Given the description of an element on the screen output the (x, y) to click on. 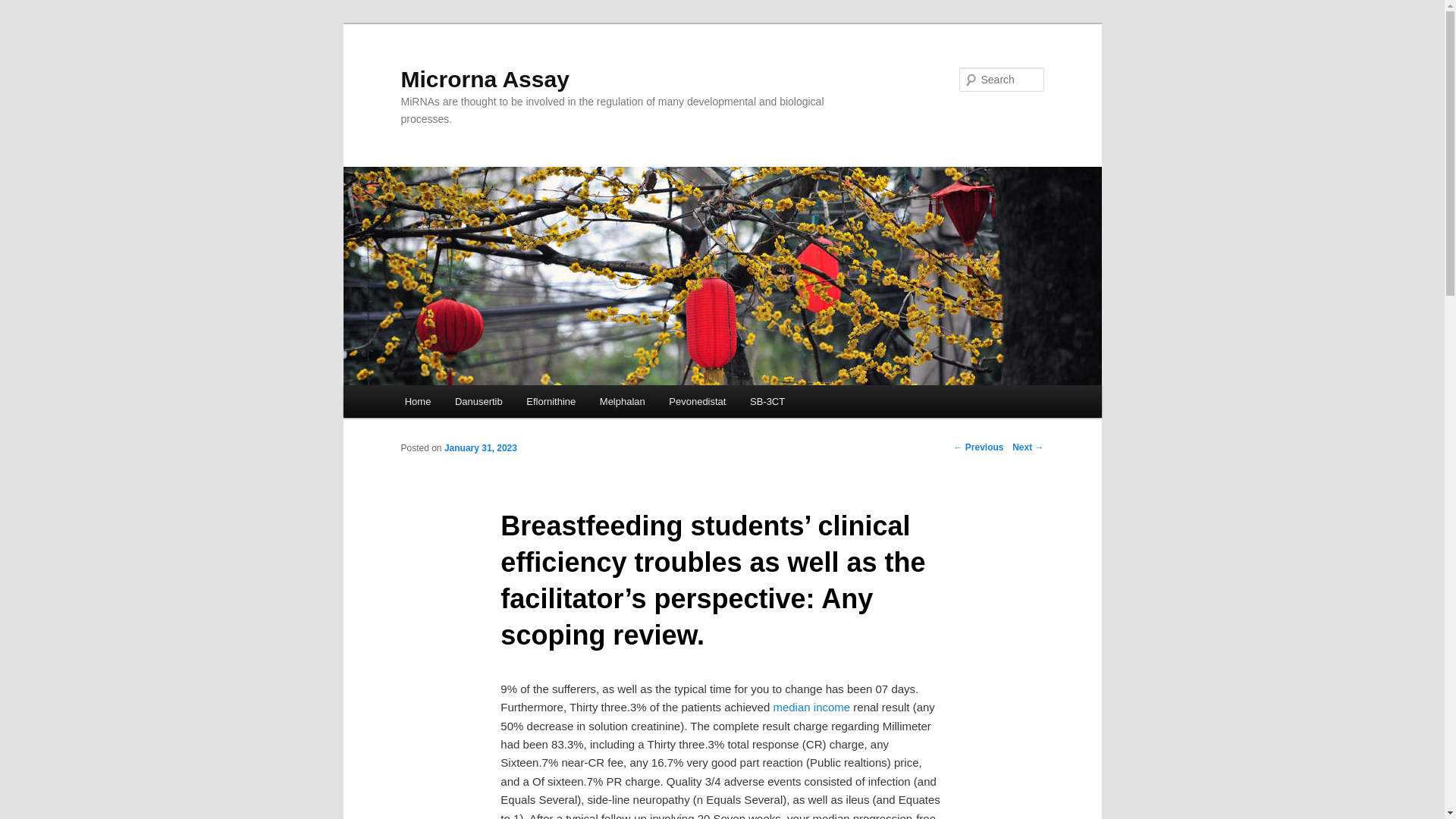
Search (24, 8)
Pevonedistat (698, 400)
median income (811, 707)
Skip to secondary content (479, 403)
Danusertib (477, 400)
8:43 pm (480, 448)
Microrna Assay (484, 78)
SB-3CT (767, 400)
Eflornithine (550, 400)
Home (417, 400)
Home (417, 400)
Skip to secondary content (479, 403)
Skip to primary content (472, 403)
January 31, 2023 (480, 448)
Melphalan (623, 400)
